Given the description of an element on the screen output the (x, y) to click on. 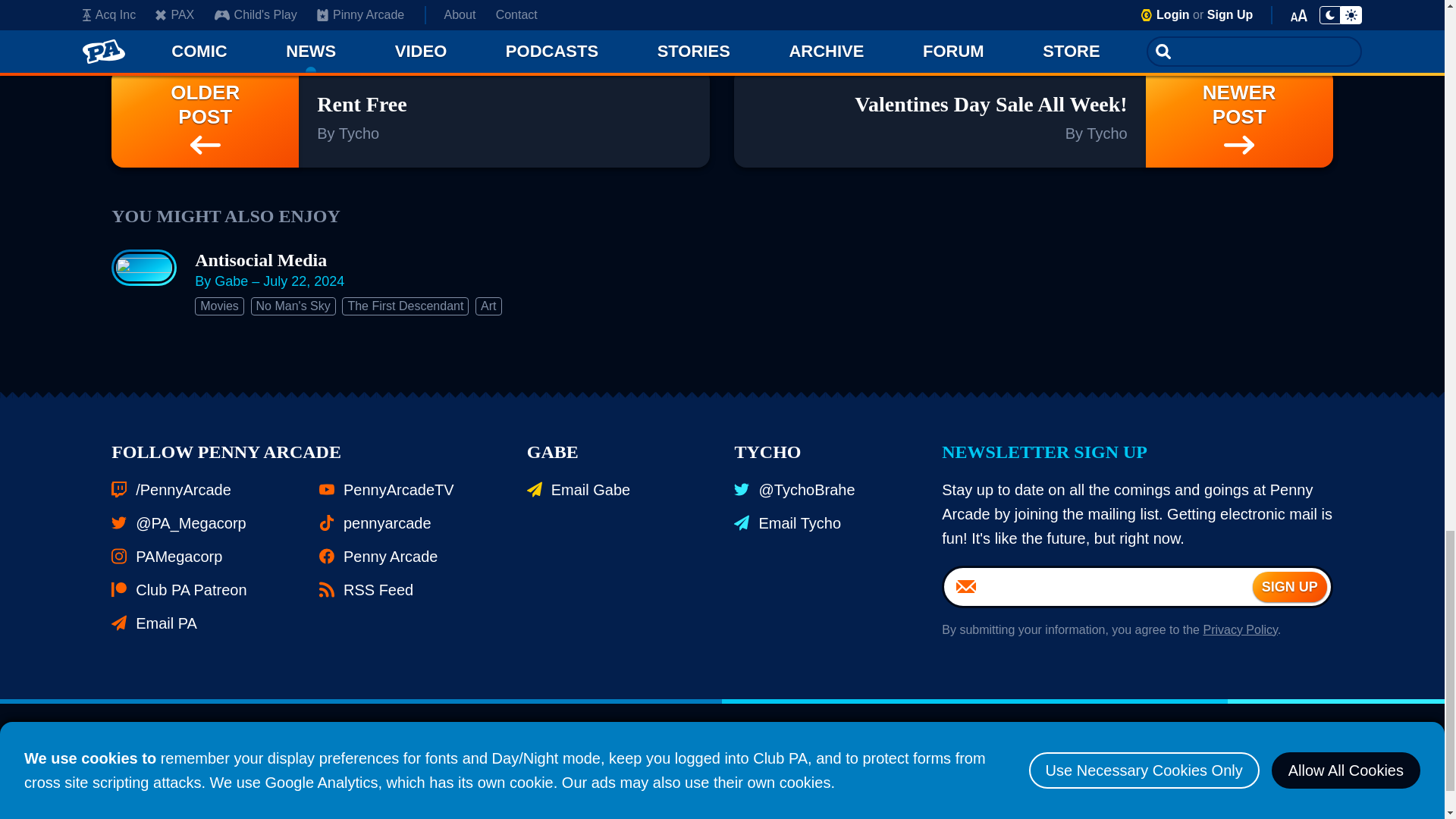
Sign Up (1289, 586)
